Given the description of an element on the screen output the (x, y) to click on. 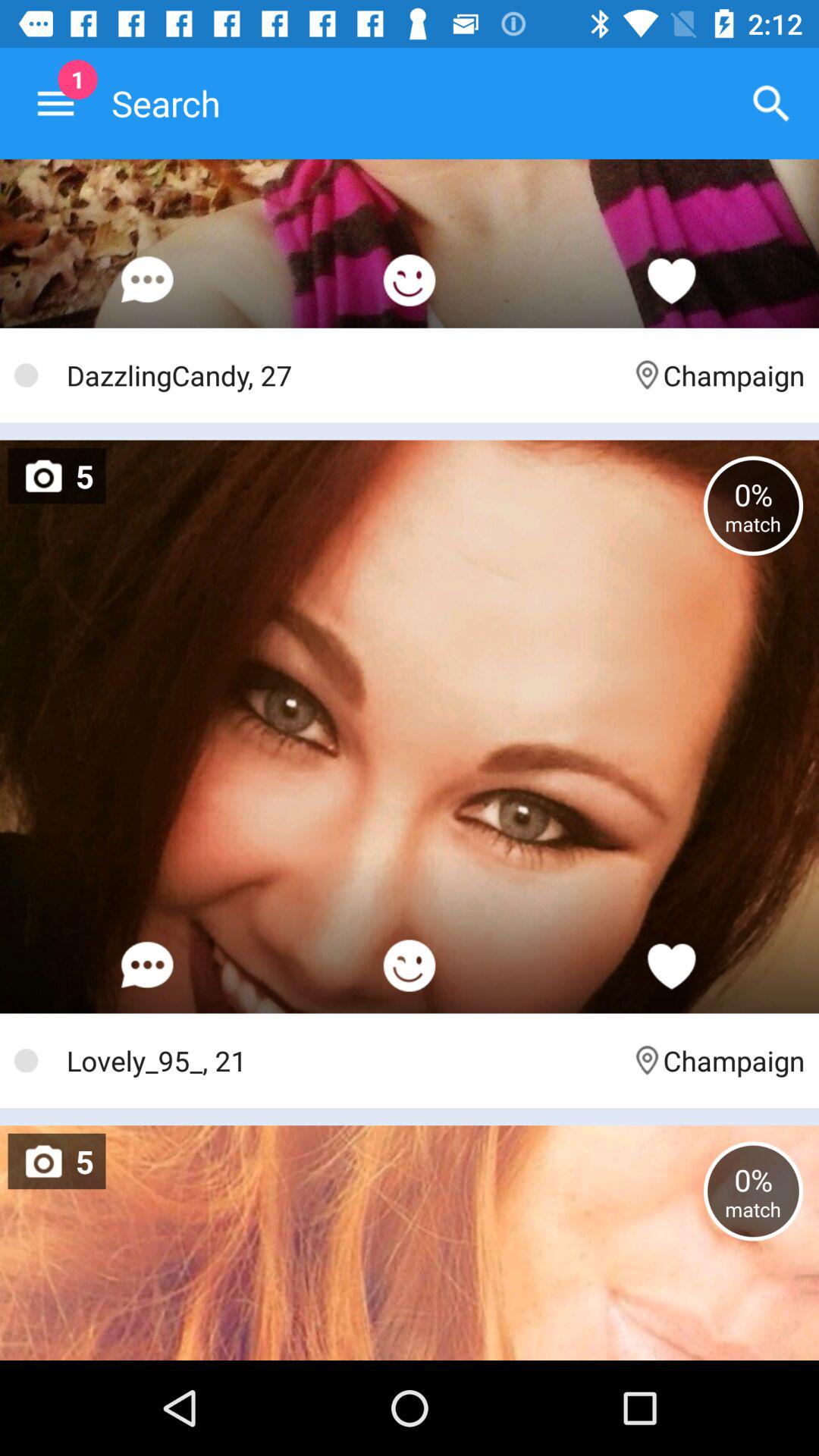
press the icon to the left of the search (55, 103)
